Given the description of an element on the screen output the (x, y) to click on. 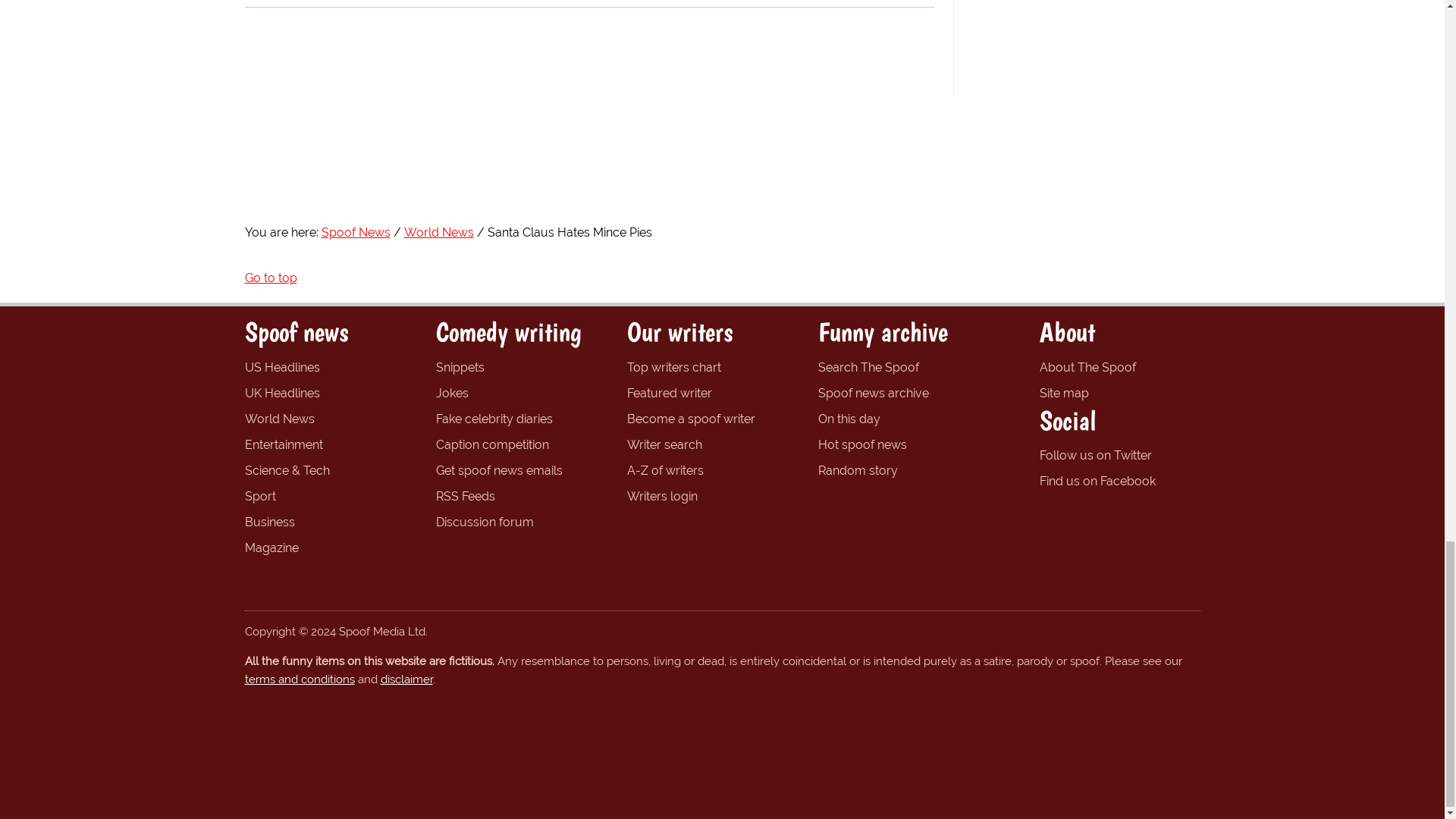
Advertisement (721, 152)
Advertisement (1085, 43)
